Given the description of an element on the screen output the (x, y) to click on. 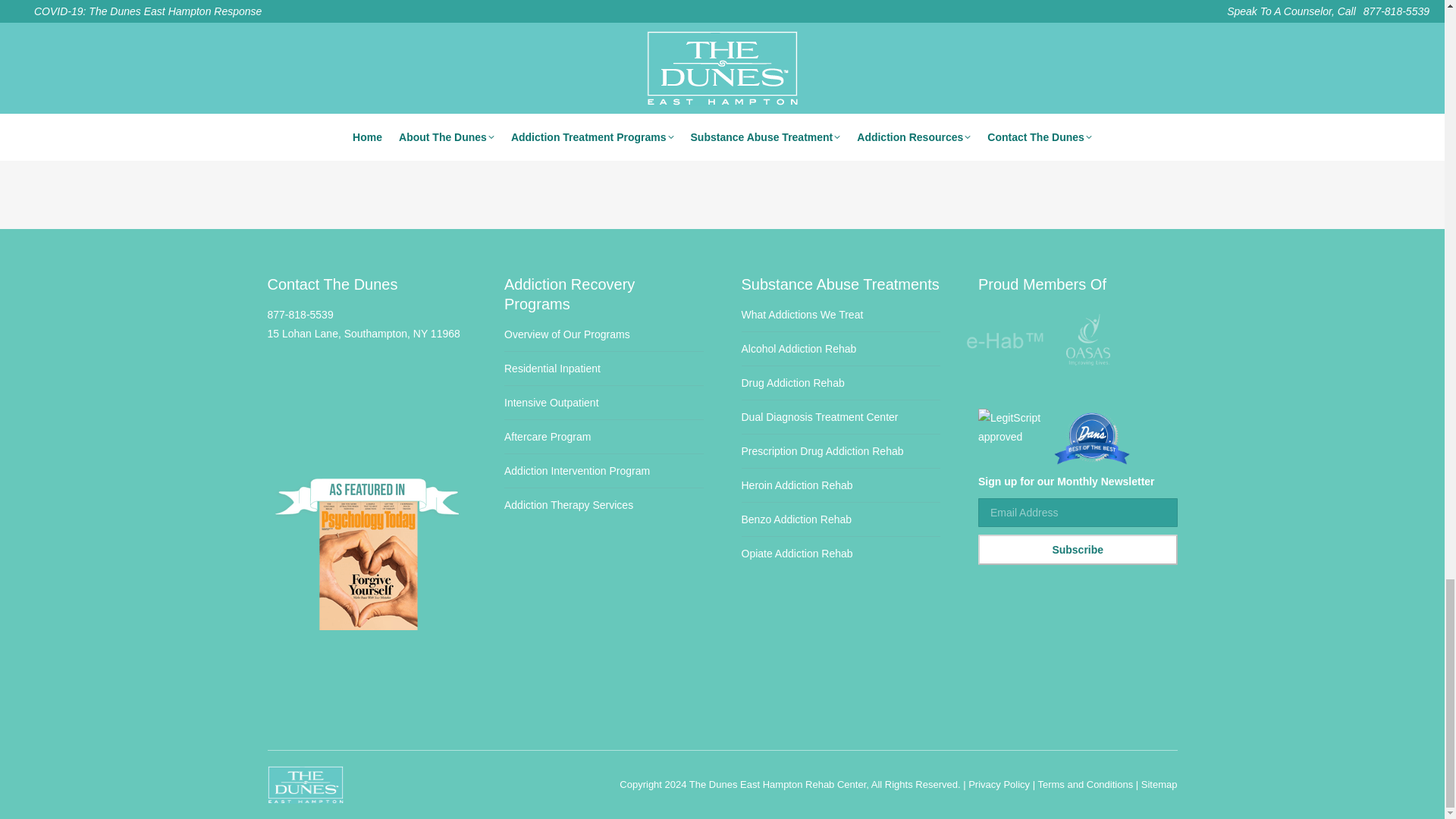
Subscribe (1077, 549)
